Given the description of an element on the screen output the (x, y) to click on. 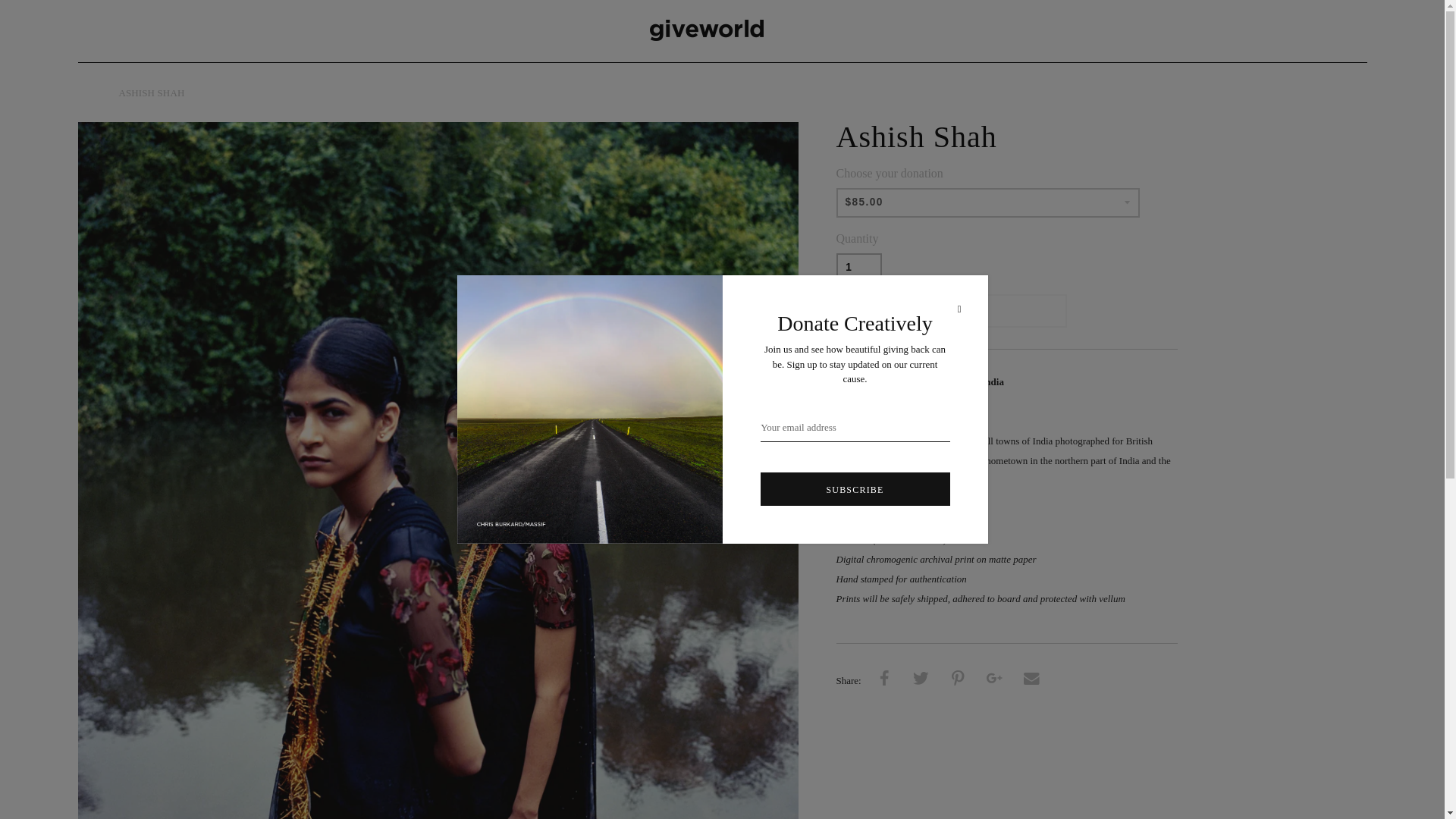
giveworld on Instagram (1323, 30)
Back to the frontpage (92, 92)
SOLD OUT (950, 310)
HOME (92, 92)
SUBSCRIBE (854, 489)
1 (857, 267)
